Given the description of an element on the screen output the (x, y) to click on. 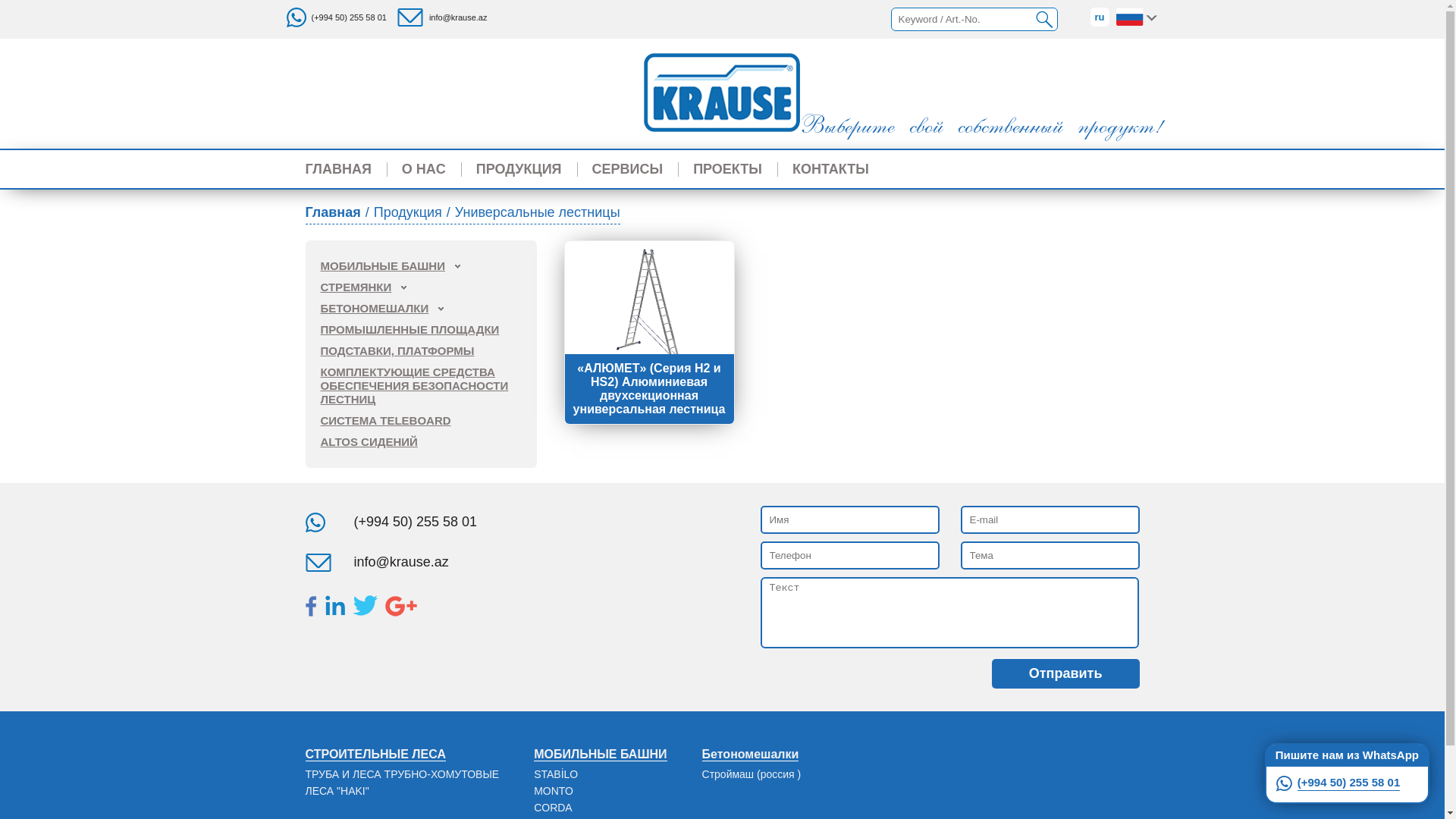
O HAC Element type: text (423, 169)
MONTO Element type: text (553, 790)
CORDA Element type: text (552, 807)
(+994 50) 255 58 01 Element type: text (1347, 783)
